Given the description of an element on the screen output the (x, y) to click on. 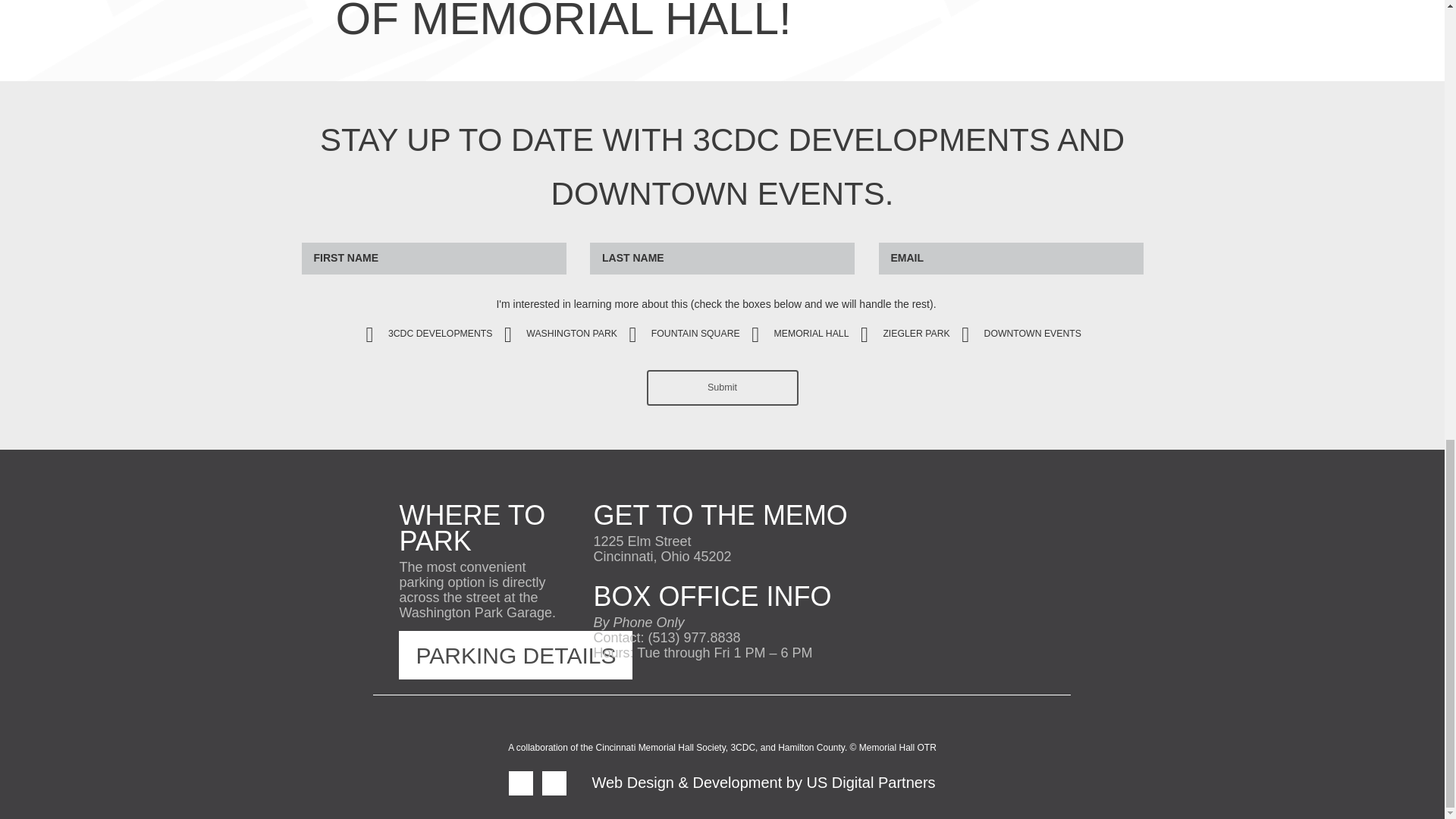
Submit (721, 388)
Submit (721, 388)
PARKING DETAILS (514, 654)
